Given the description of an element on the screen output the (x, y) to click on. 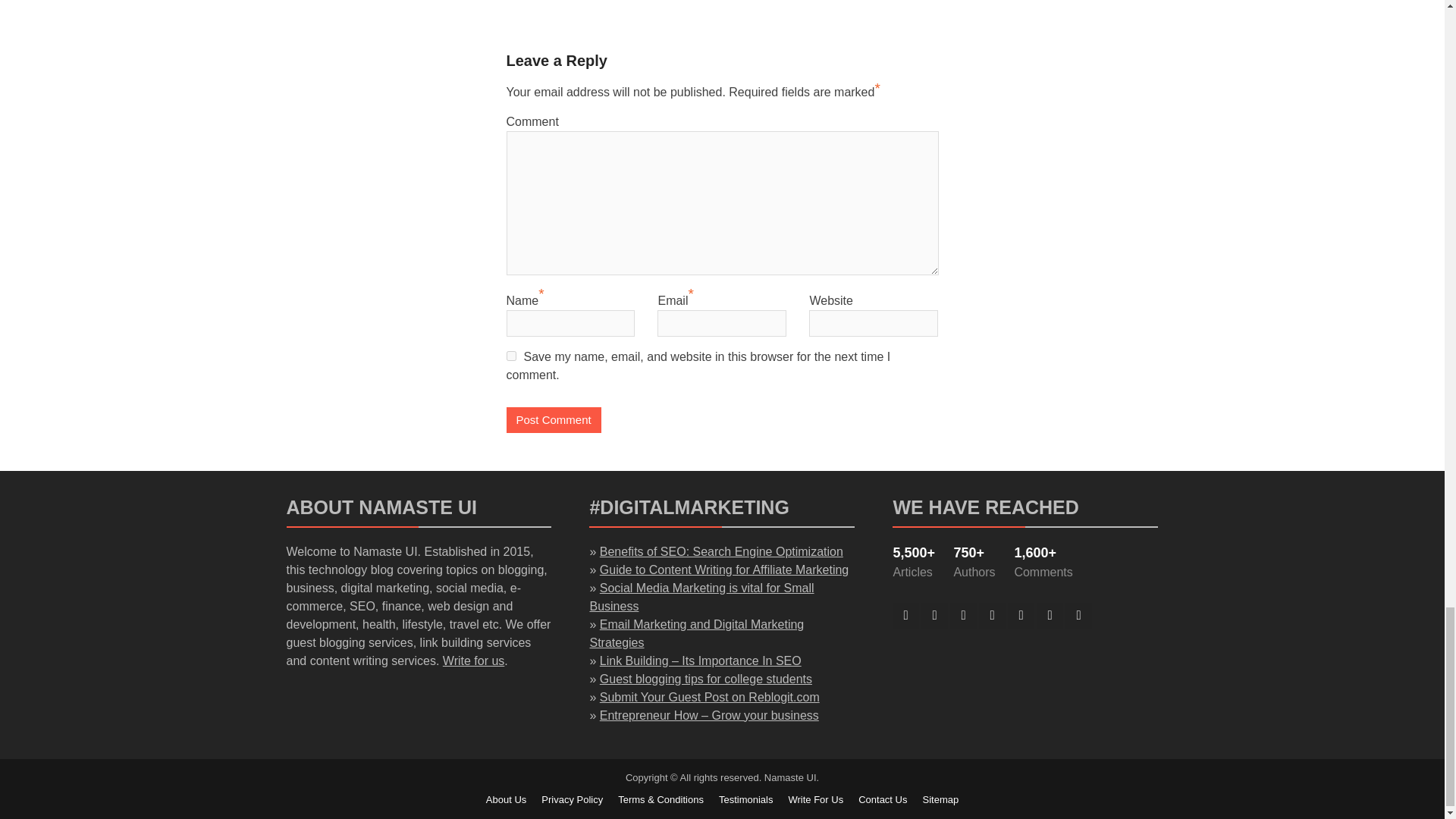
yes (511, 356)
Post Comment (553, 420)
